Given the description of an element on the screen output the (x, y) to click on. 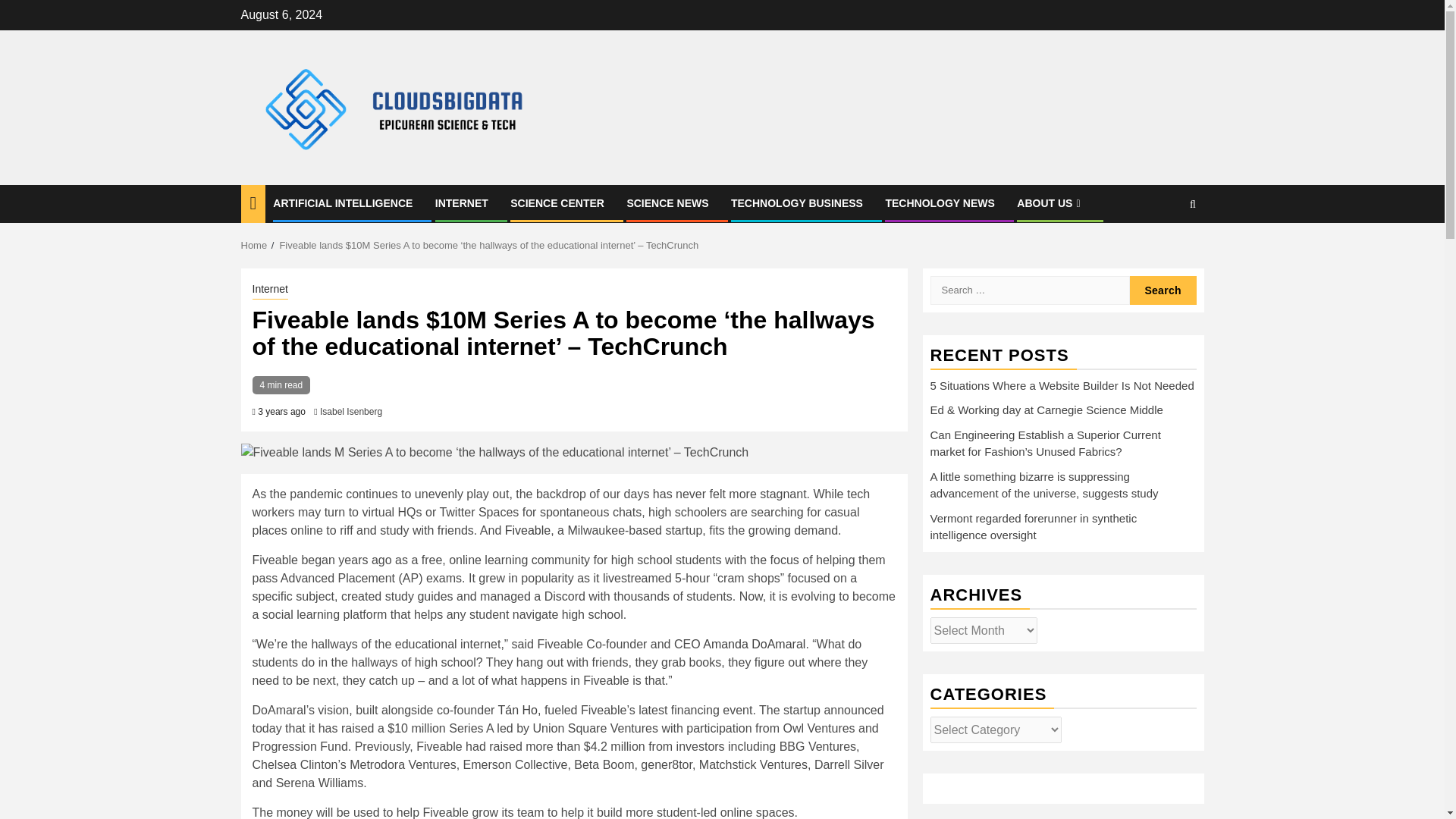
Search (1163, 249)
Search (1162, 290)
ARTIFICIAL INTELLIGENCE (342, 203)
Fiveable (527, 530)
ABOUT US (1049, 203)
TECHNOLOGY NEWS (939, 203)
INTERNET (461, 203)
SCIENCE CENTER (557, 203)
Isabel Isenberg (350, 411)
Amanda DoAmaral (753, 644)
SCIENCE NEWS (666, 203)
Home (254, 244)
Search (1162, 290)
TECHNOLOGY BUSINESS (796, 203)
Internet (268, 290)
